Given the description of an element on the screen output the (x, y) to click on. 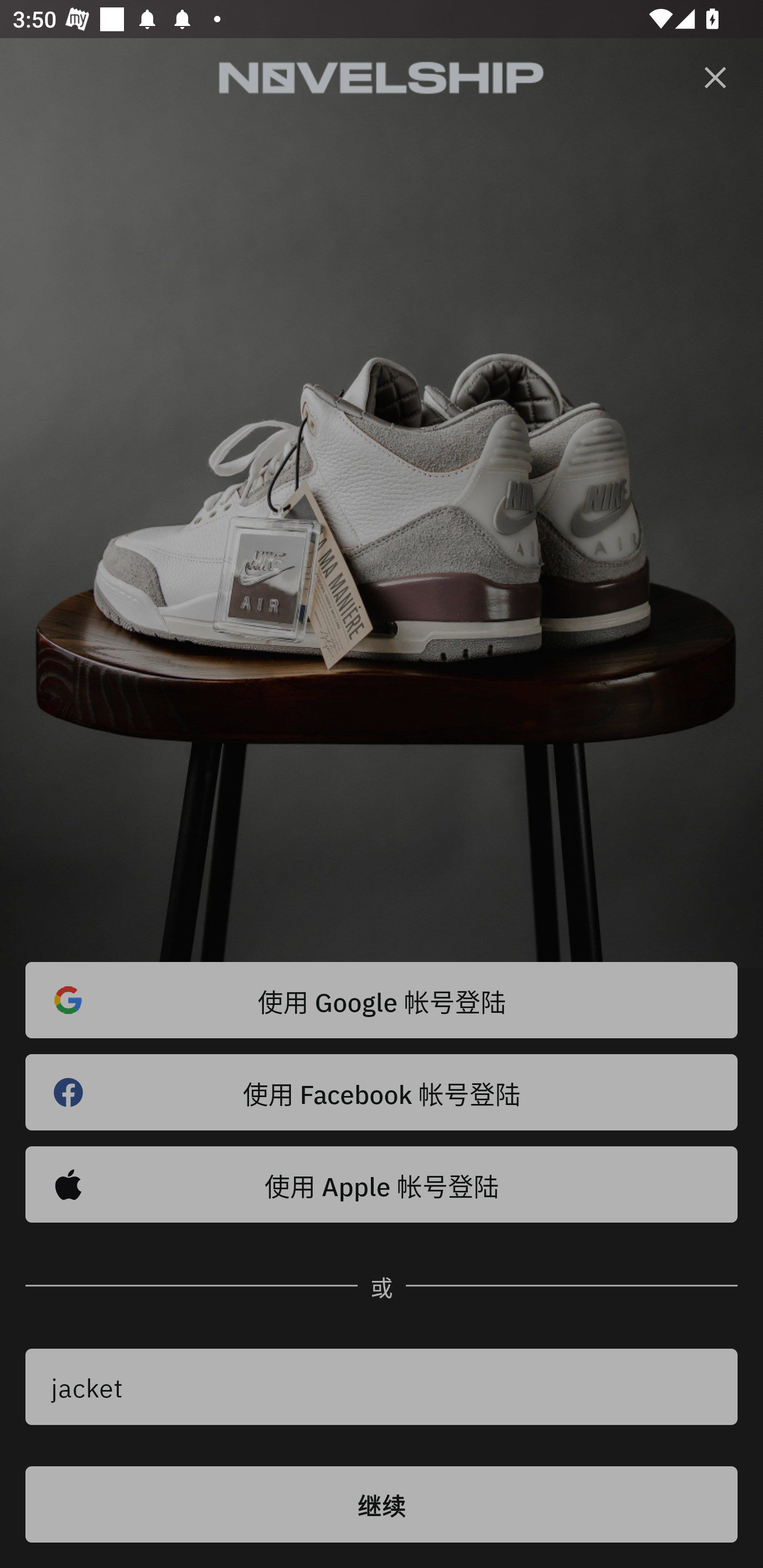
使用 Google 帐号登陆 (381, 1000)
使用 Facebook 帐号登陆 󰈌 (381, 1091)
 使用 Apple 帐号登陆 (381, 1184)
jacket (381, 1386)
继续 (381, 1504)
